Given the description of an element on the screen output the (x, y) to click on. 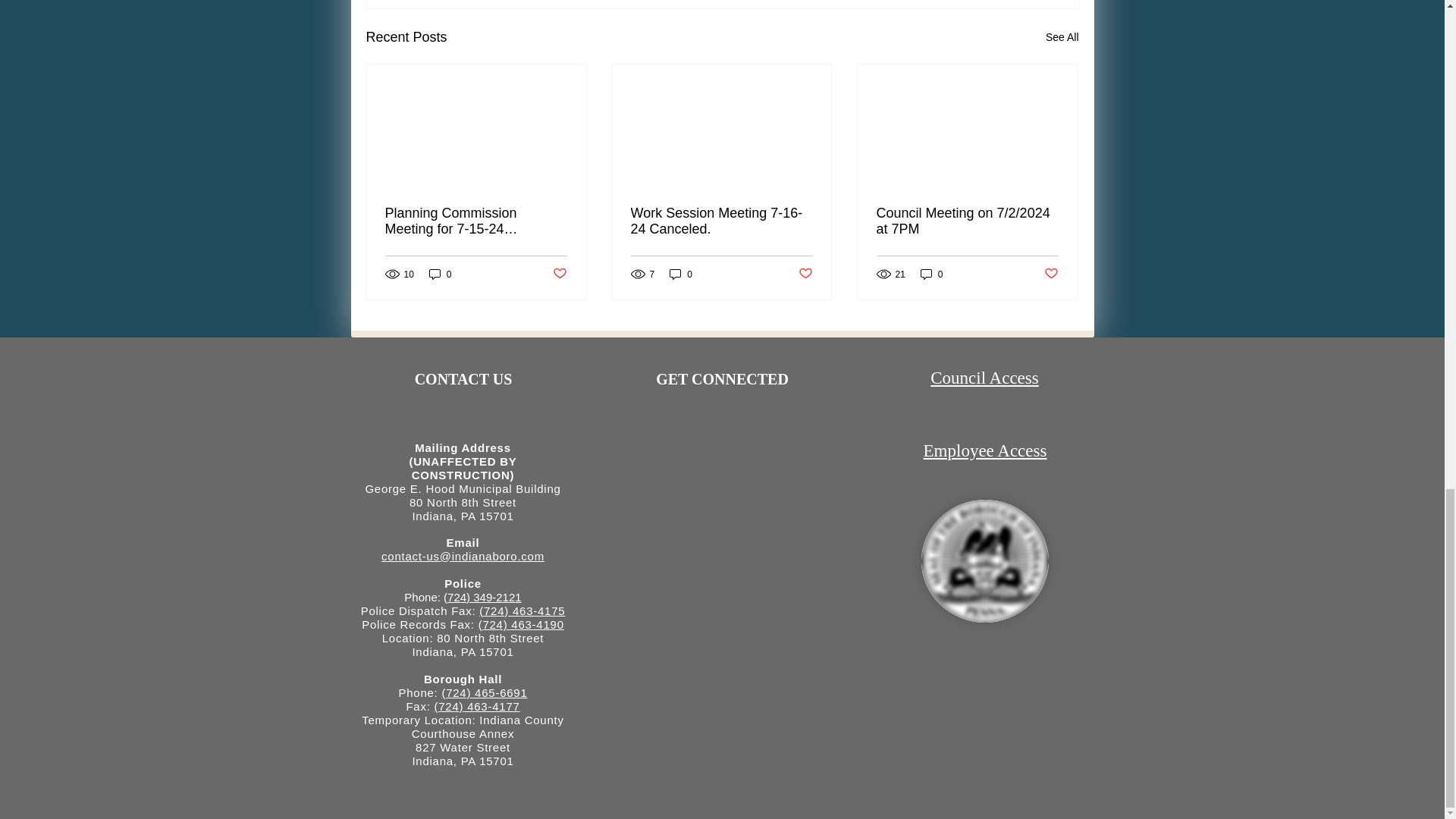
Borough Seal - Black Transparent.png (984, 560)
